Given the description of an element on the screen output the (x, y) to click on. 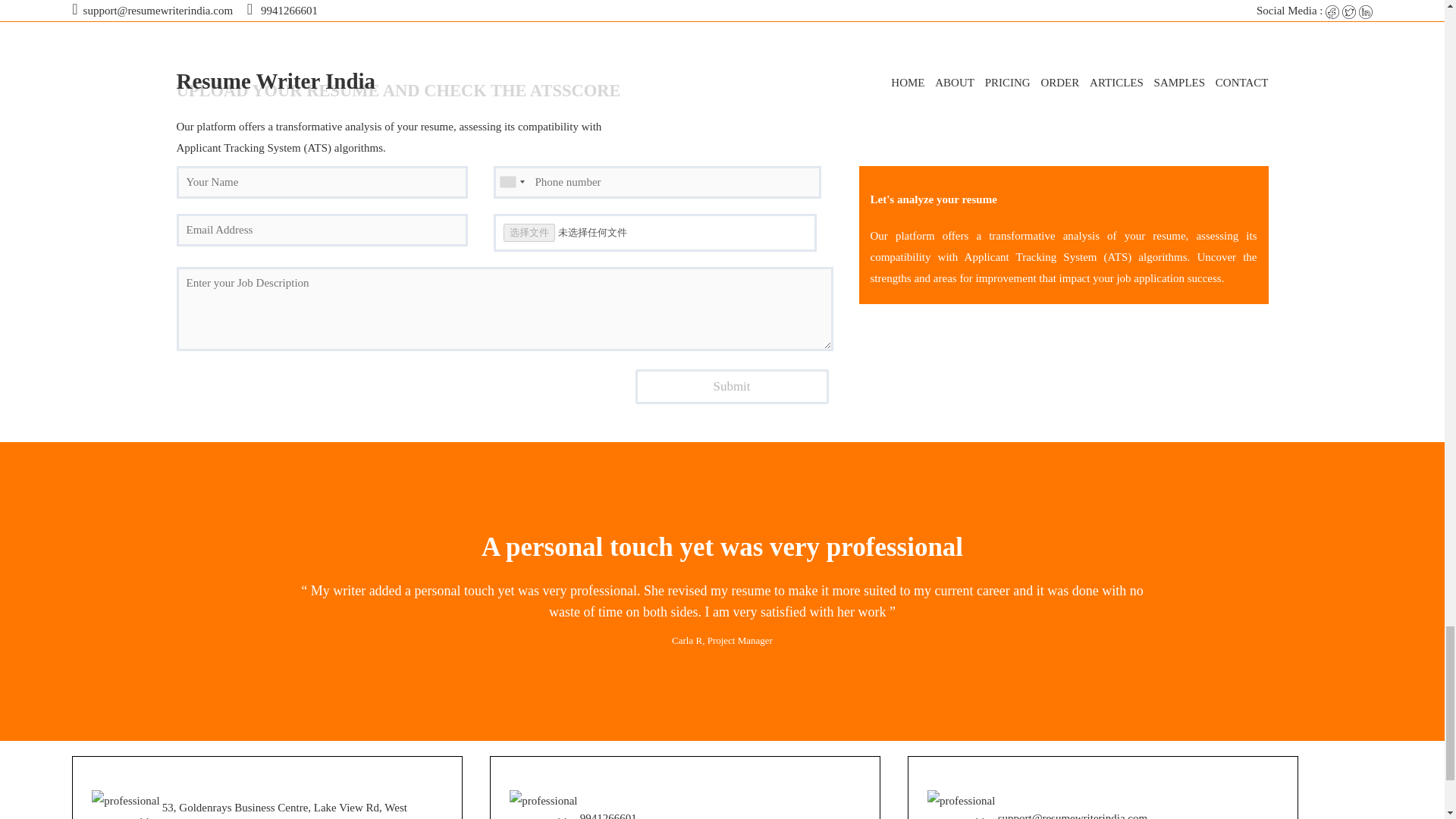
Submit (731, 386)
